Given the description of an element on the screen output the (x, y) to click on. 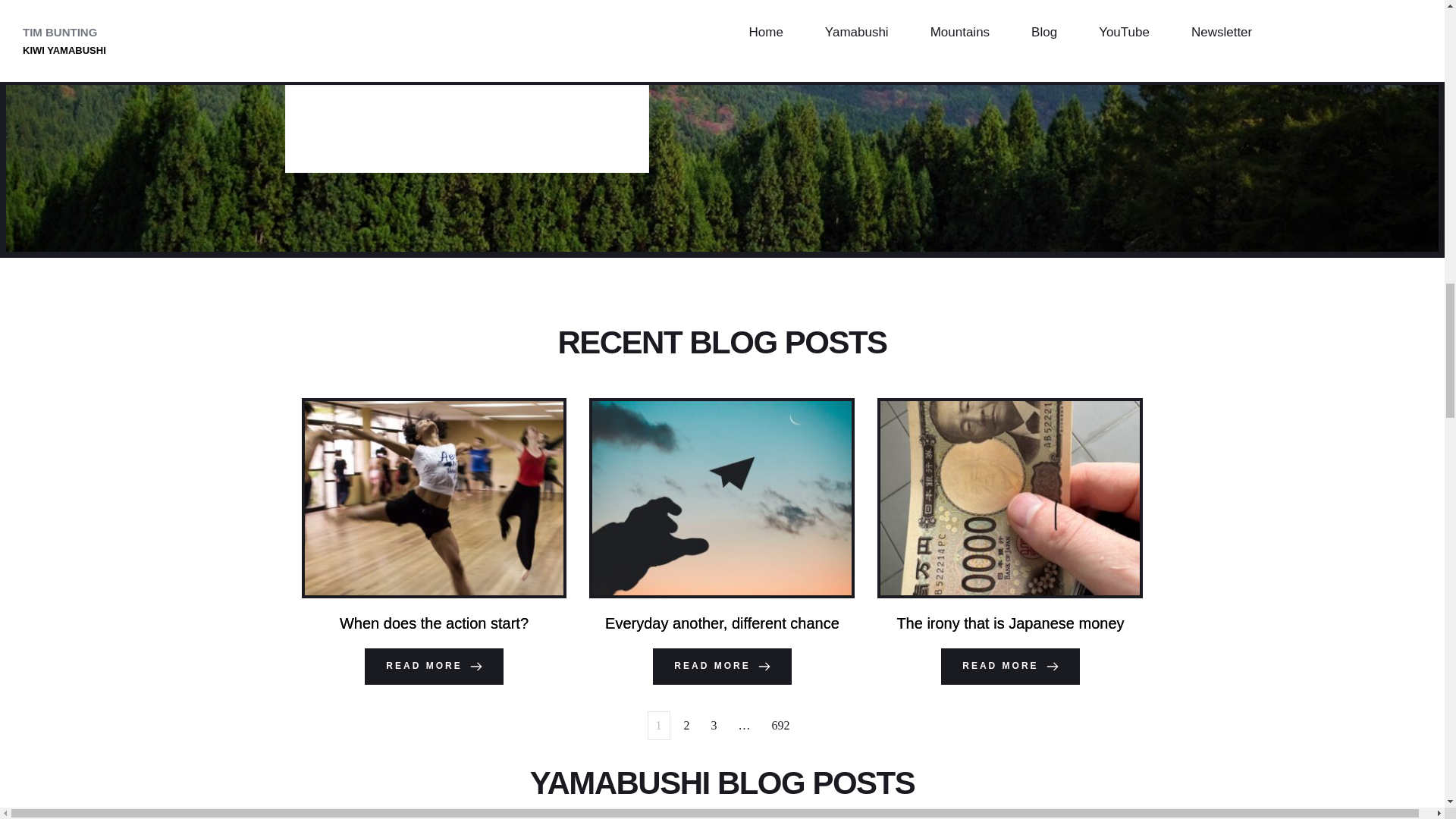
READ MORE (1009, 666)
READ MORE (721, 666)
692 (780, 725)
READ MORE (433, 666)
